Given the description of an element on the screen output the (x, y) to click on. 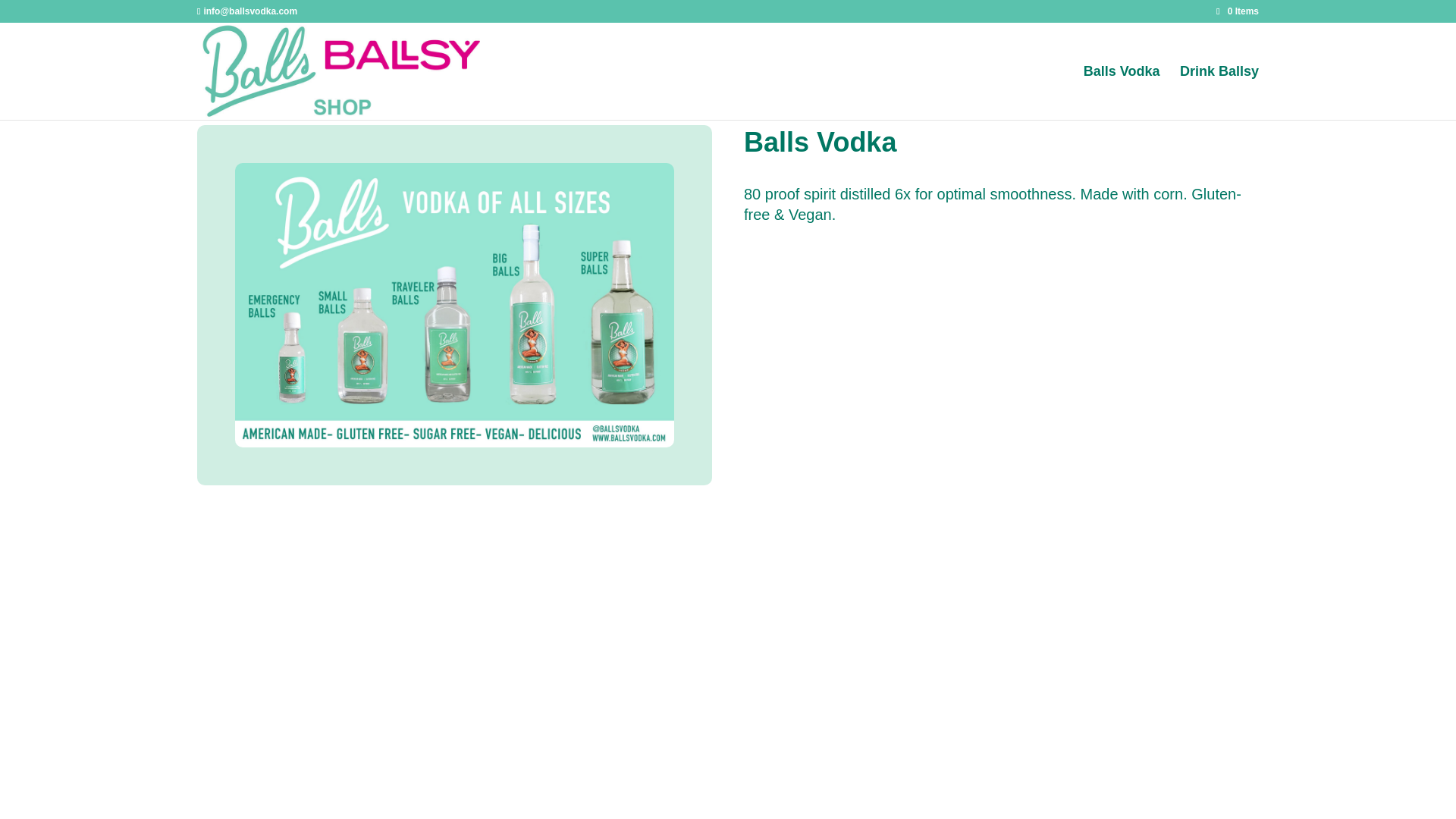
balls sizes (454, 304)
Balls Vodka (1121, 92)
0 Items (1237, 10)
Drink Ballsy (1219, 92)
